Given the description of an element on the screen output the (x, y) to click on. 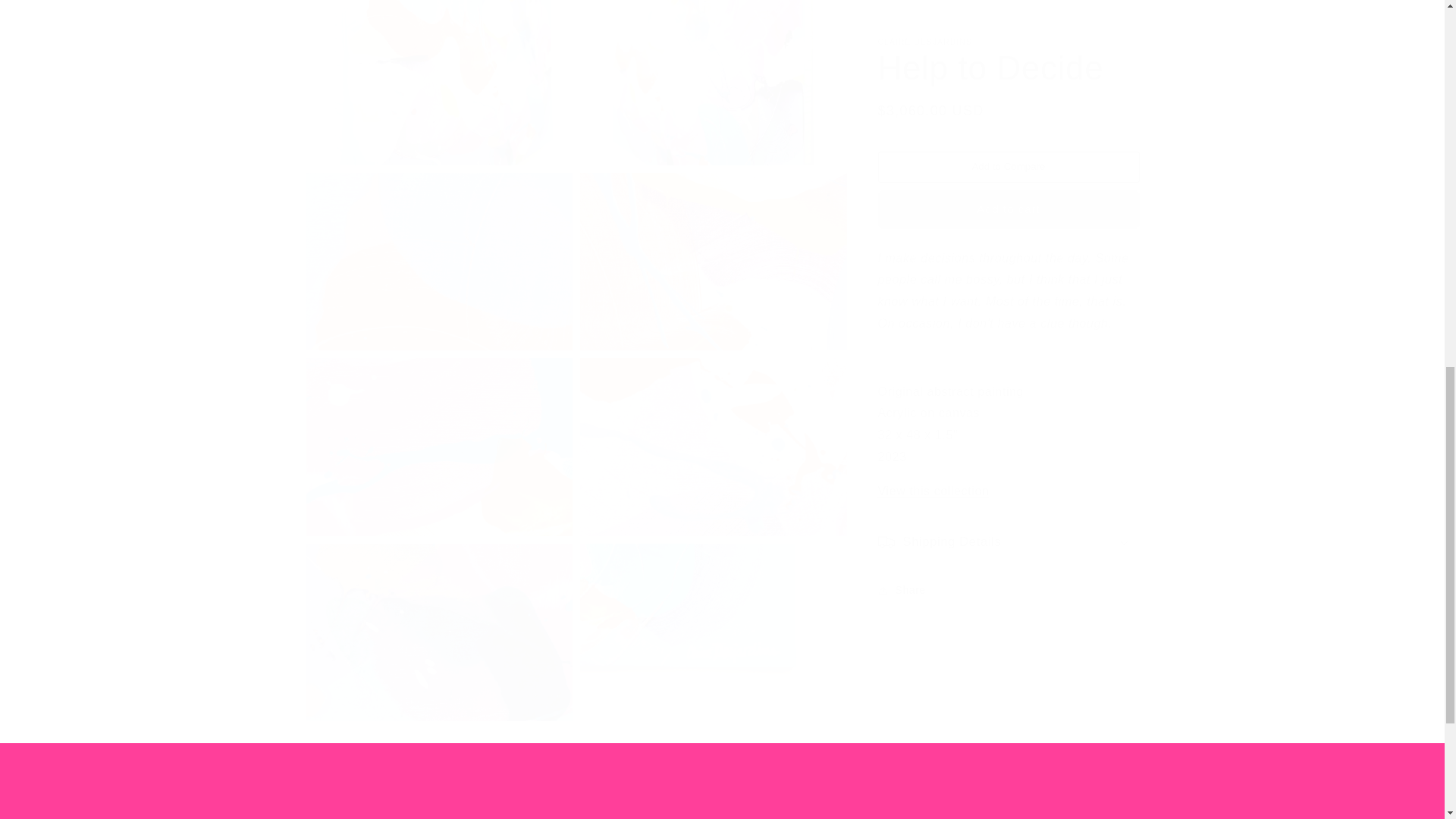
Open media 10 in modal (438, 616)
Open media 11 in modal (713, 616)
Open media 7 in modal (713, 246)
Open media 4 in modal (438, 75)
Open media 9 in modal (713, 431)
Open media 6 in modal (438, 246)
Open media 8 in modal (438, 431)
Open media 5 in modal (713, 75)
